Given the description of an element on the screen output the (x, y) to click on. 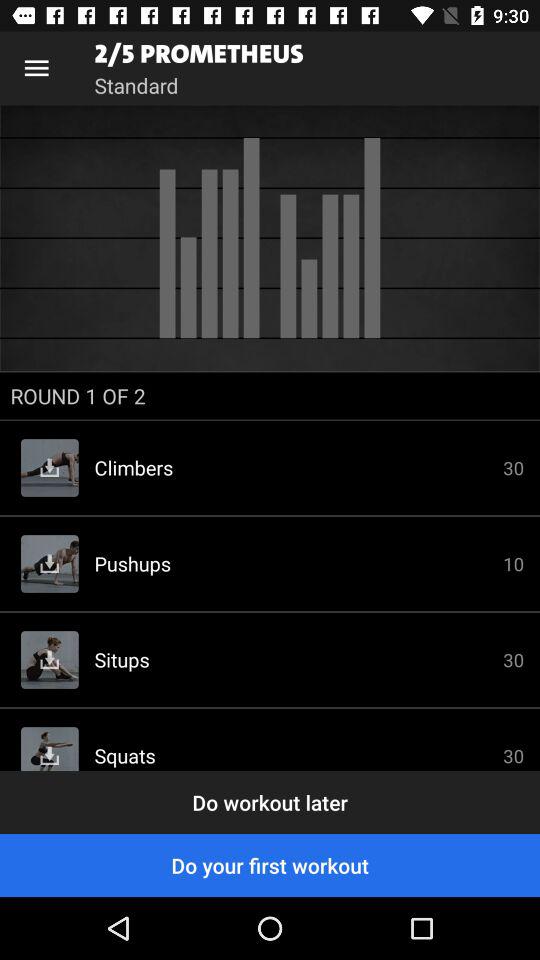
tap the icon next to 2/5 prometheus (36, 68)
